Given the description of an element on the screen output the (x, y) to click on. 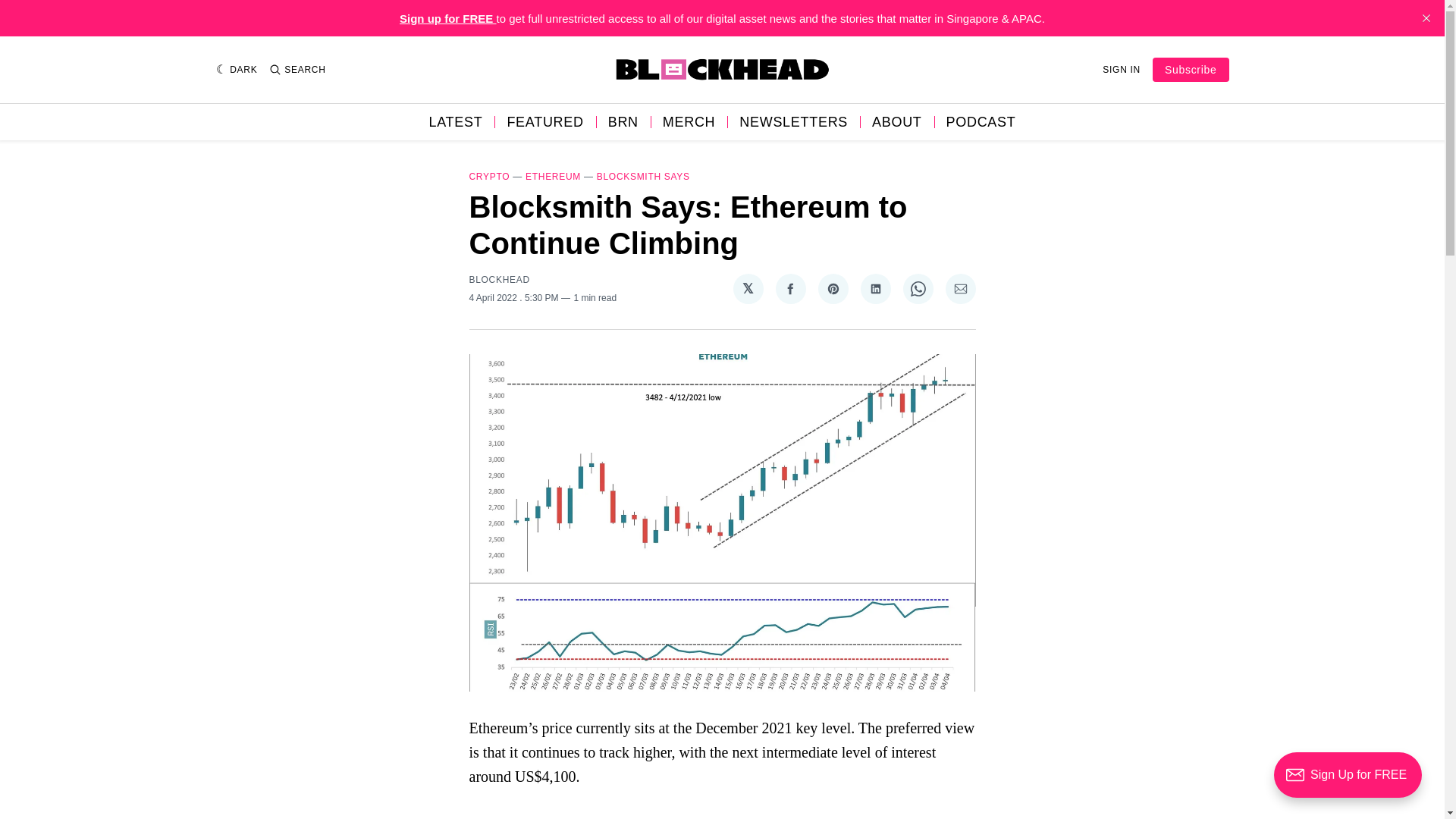
LATEST (456, 121)
PODCAST (981, 121)
NEWSLETTERS (793, 121)
SIGN IN (1121, 69)
Share on Pinterest (831, 288)
Share on Facebook (789, 288)
Share on WhatsApp (917, 288)
SEARCH (296, 69)
ETHEREUM (552, 176)
CRYPTO (488, 176)
ABOUT (896, 121)
Subscribe (1190, 69)
Sign up for FREE (447, 18)
BLOCKSMITH SAYS (643, 176)
DARK (236, 69)
